Given the description of an element on the screen output the (x, y) to click on. 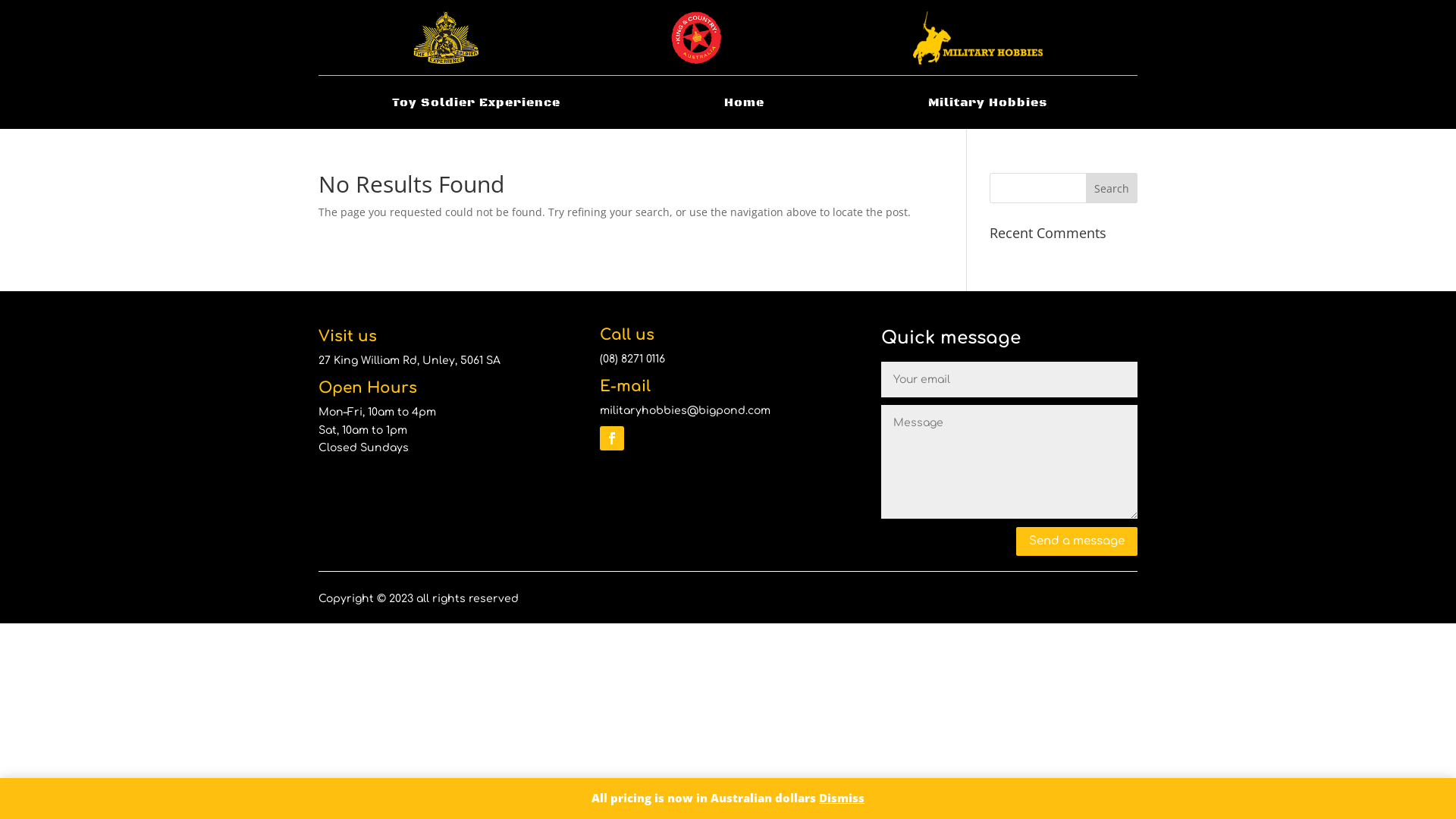
Search Element type: text (1111, 187)
Dismiss Element type: text (841, 797)
King-Country-Logo-1 Element type: hover (695, 37)
Toy-Soldier-Experience-Logo-1 Element type: hover (446, 37)
logo-1-1 Element type: hover (977, 37)
Send a message Element type: text (1076, 541)
Military Hobbies Element type: text (987, 105)
militaryhobbies@bigpond.com Element type: text (684, 410)
Home Element type: text (744, 105)
Toy Soldier Experience Element type: text (476, 105)
Follow on Facebook Element type: hover (611, 438)
(08) 8271 0116 Element type: text (632, 358)
